Given the description of an element on the screen output the (x, y) to click on. 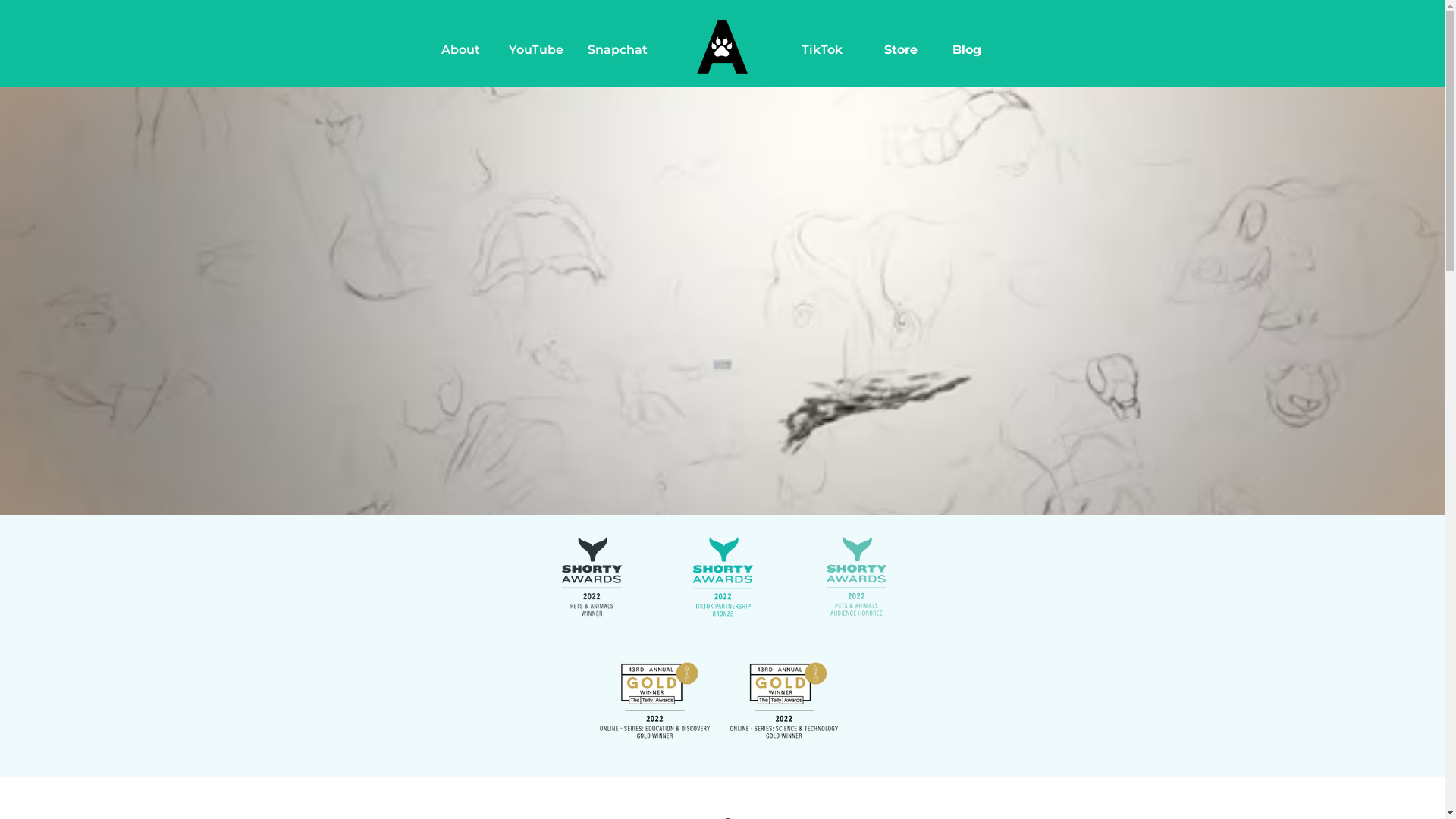
Store Element type: text (900, 49)
TikTok Element type: text (821, 49)
About Element type: text (460, 49)
YouTube Element type: text (536, 49)
Blog Element type: text (966, 49)
Snapchat Element type: text (616, 49)
